Given the description of an element on the screen output the (x, y) to click on. 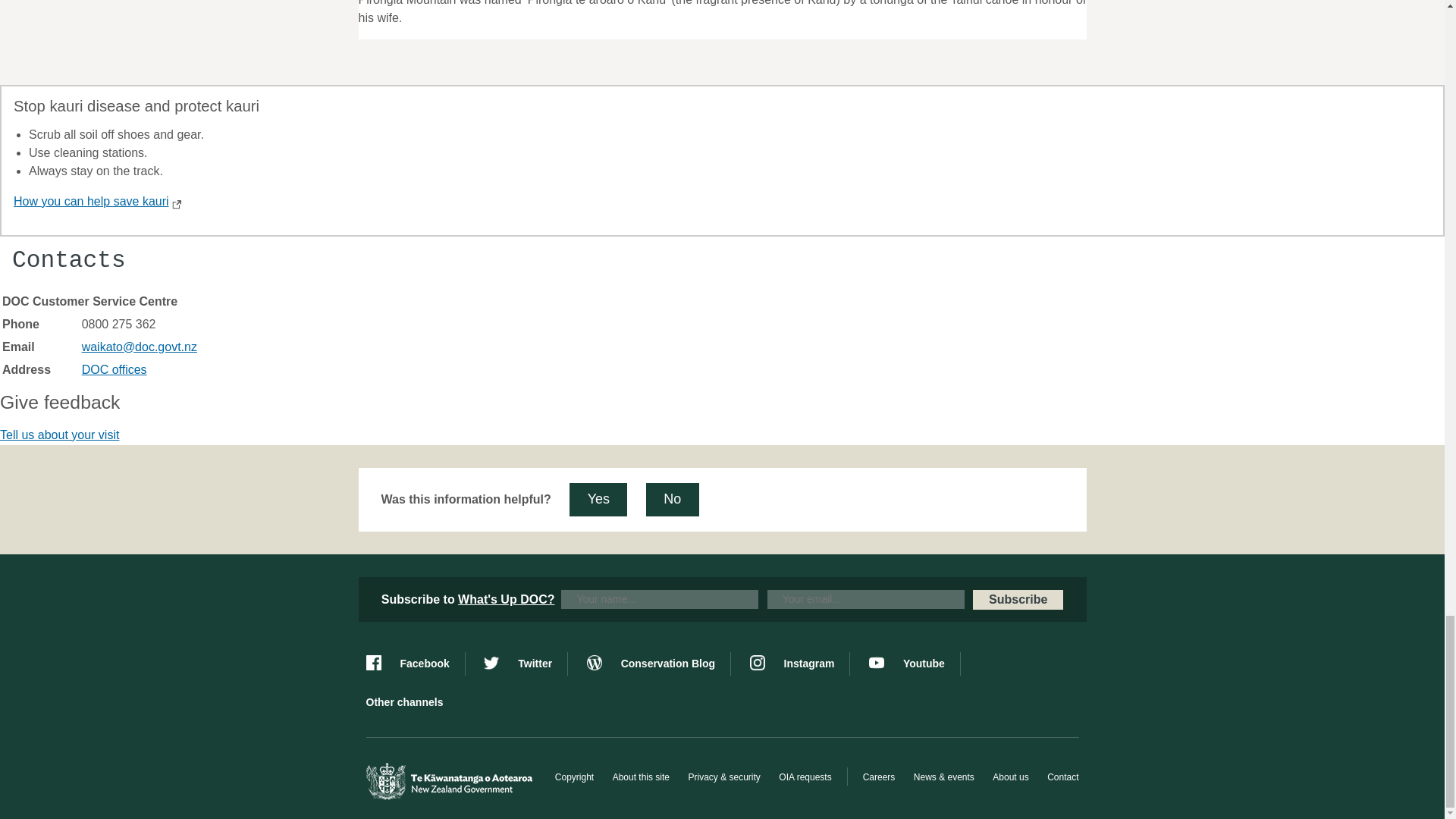
twitter (525, 663)
blog (658, 663)
facebook (414, 663)
instagram (799, 663)
External site link (174, 204)
Subscribe (1017, 599)
